Given the description of an element on the screen output the (x, y) to click on. 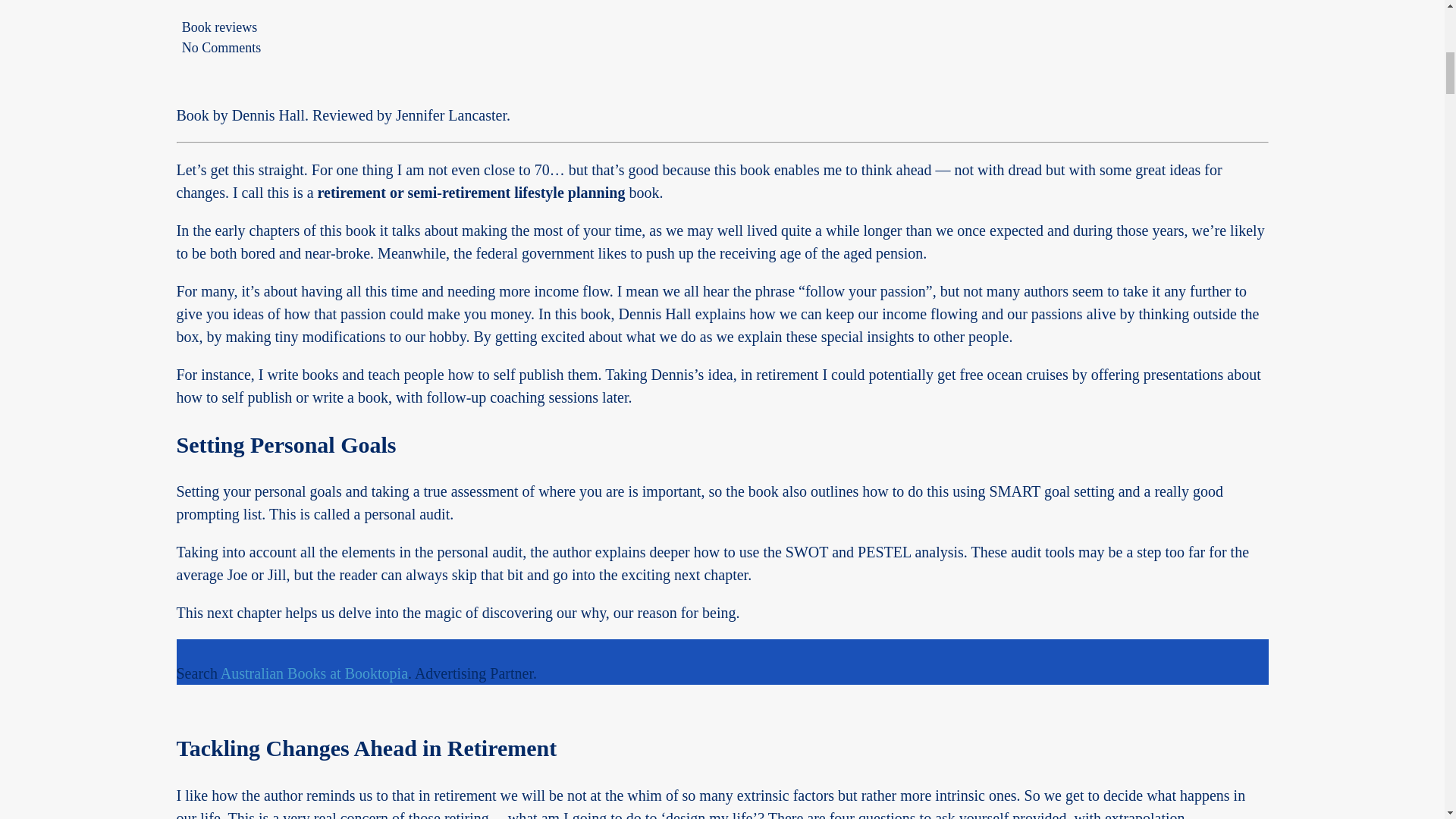
No Comments (222, 47)
No Comments (222, 47)
Book reviews (219, 27)
Australian Books at Booktopia (314, 673)
